Given the description of an element on the screen output the (x, y) to click on. 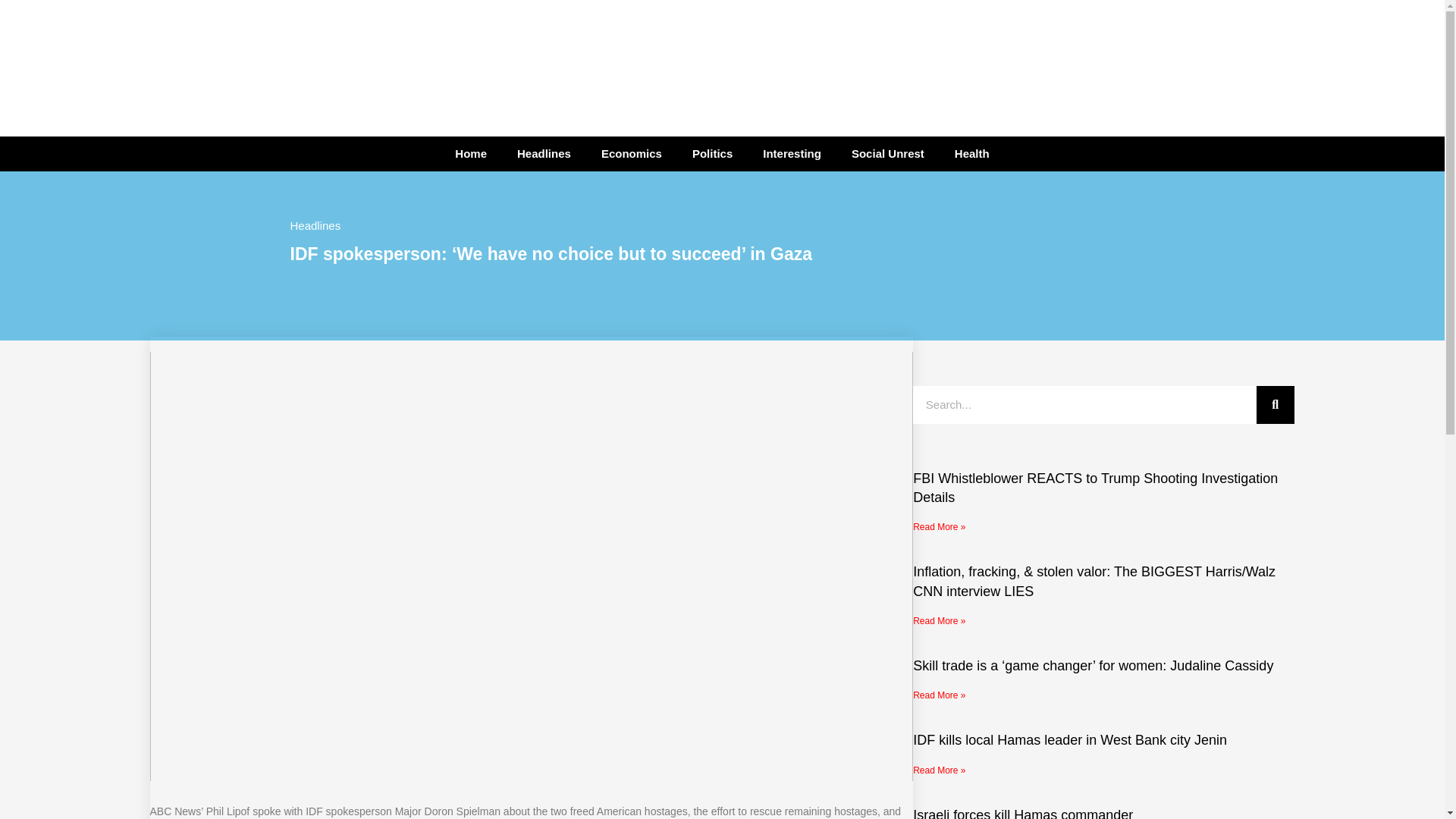
Headlines (544, 153)
Israeli forces kill Hamas commander (1022, 813)
Health (971, 153)
Home (470, 153)
Interesting (791, 153)
Economics (631, 153)
Social Unrest (887, 153)
Headlines (314, 225)
IDF kills local Hamas leader in West Bank city Jenin (1069, 739)
